Given the description of an element on the screen output the (x, y) to click on. 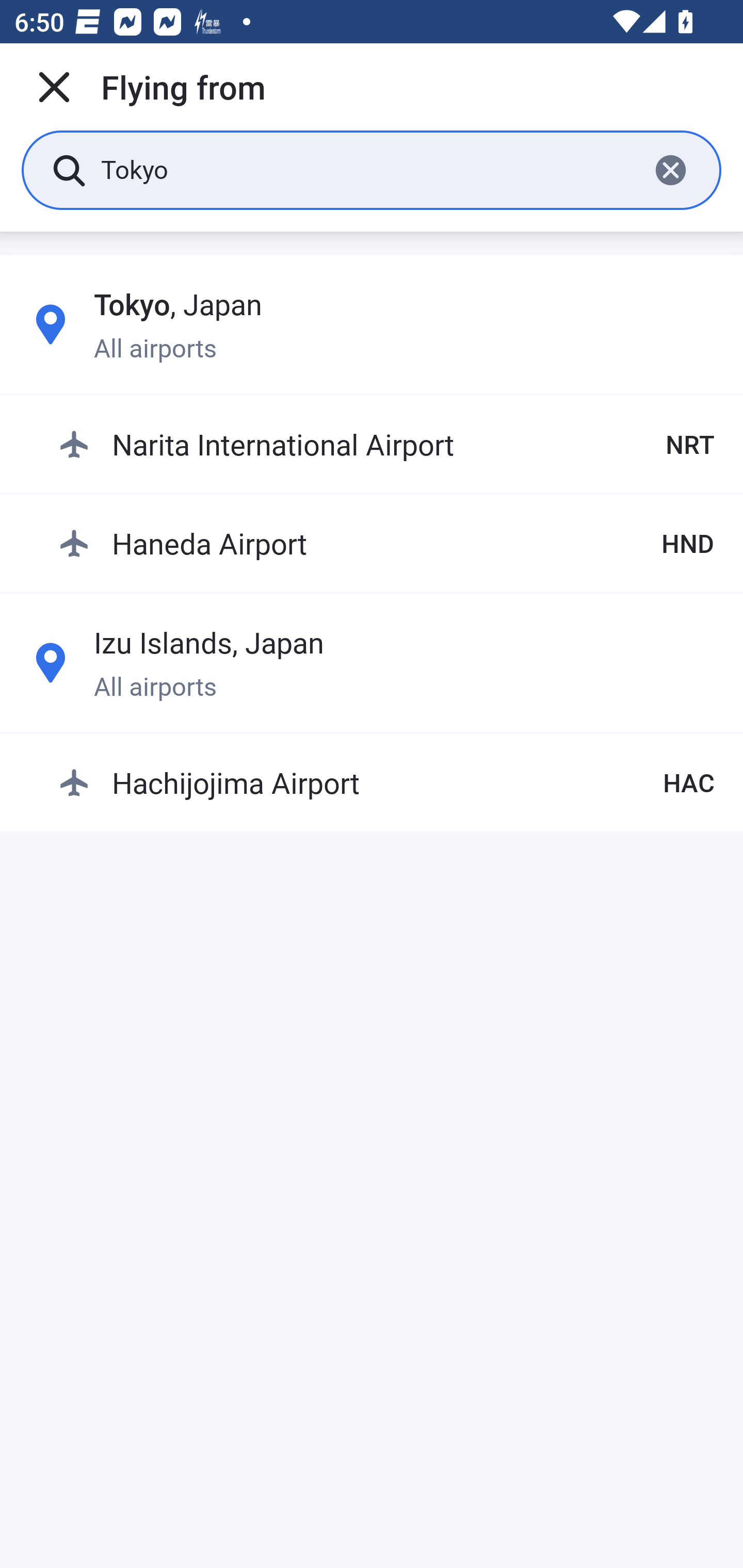
Tokyo (367, 169)
Tokyo, Japan All airports (371, 324)
Narita International Airport NRT (385, 444)
Haneda Airport HND (385, 543)
Izu Islands, Japan All airports (371, 662)
Hachijojima Airport HAC (385, 782)
